Given the description of an element on the screen output the (x, y) to click on. 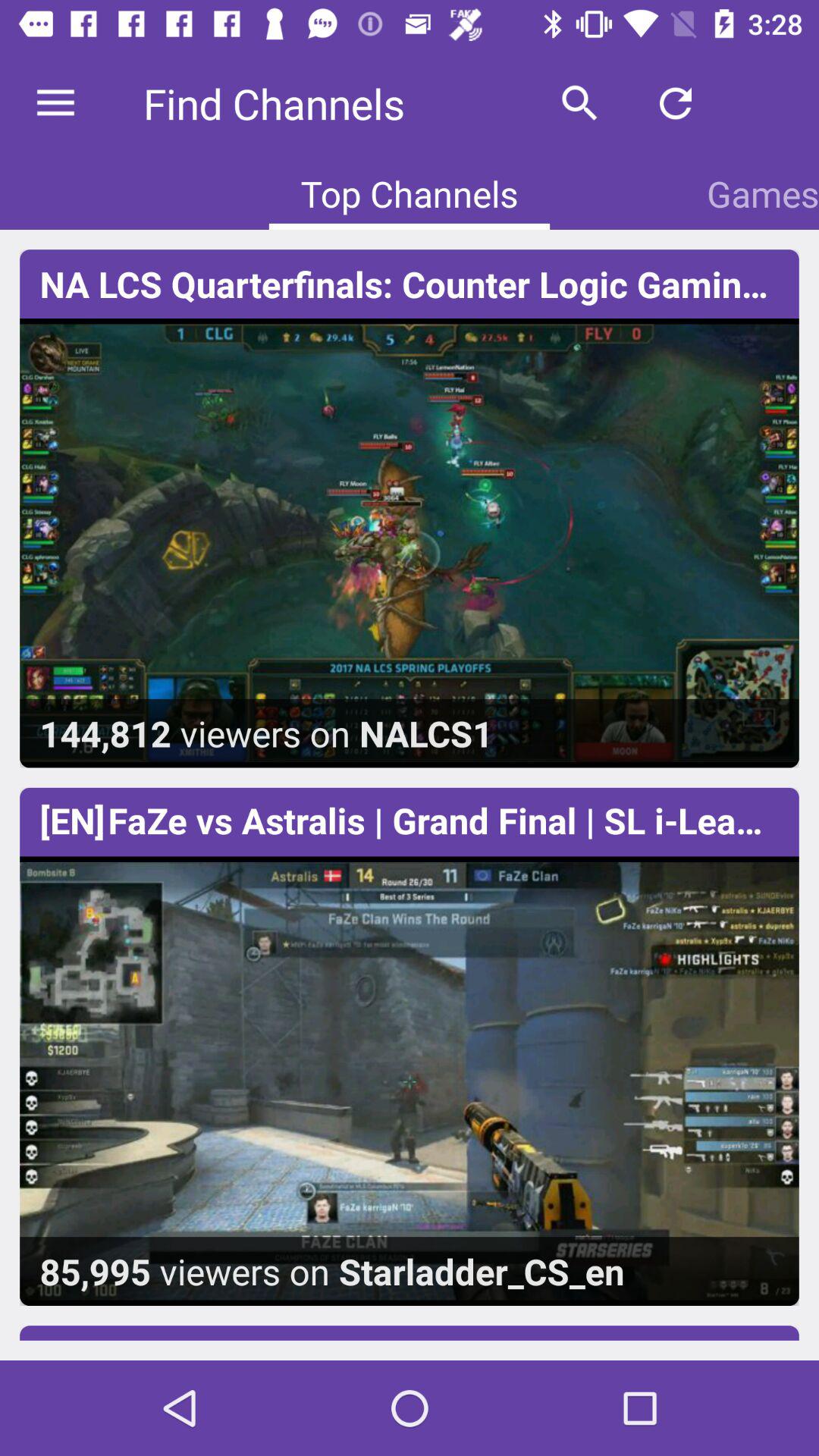
tap item above the na lcs quarterfinals icon (579, 103)
